Given the description of an element on the screen output the (x, y) to click on. 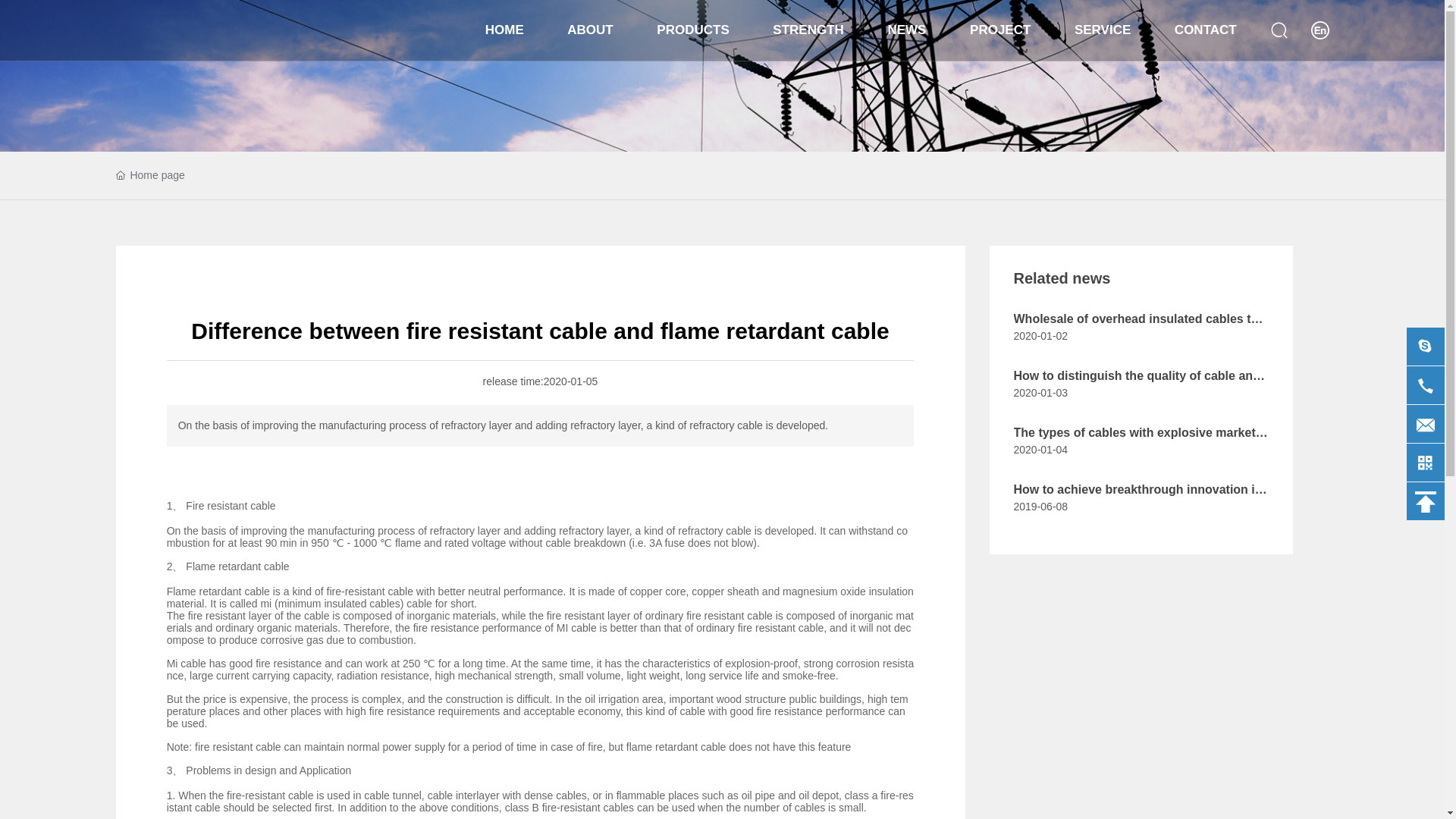
ENGLISH (1318, 29)
STRENGTH (808, 30)
PRODUCTS (692, 30)
